Given the description of an element on the screen output the (x, y) to click on. 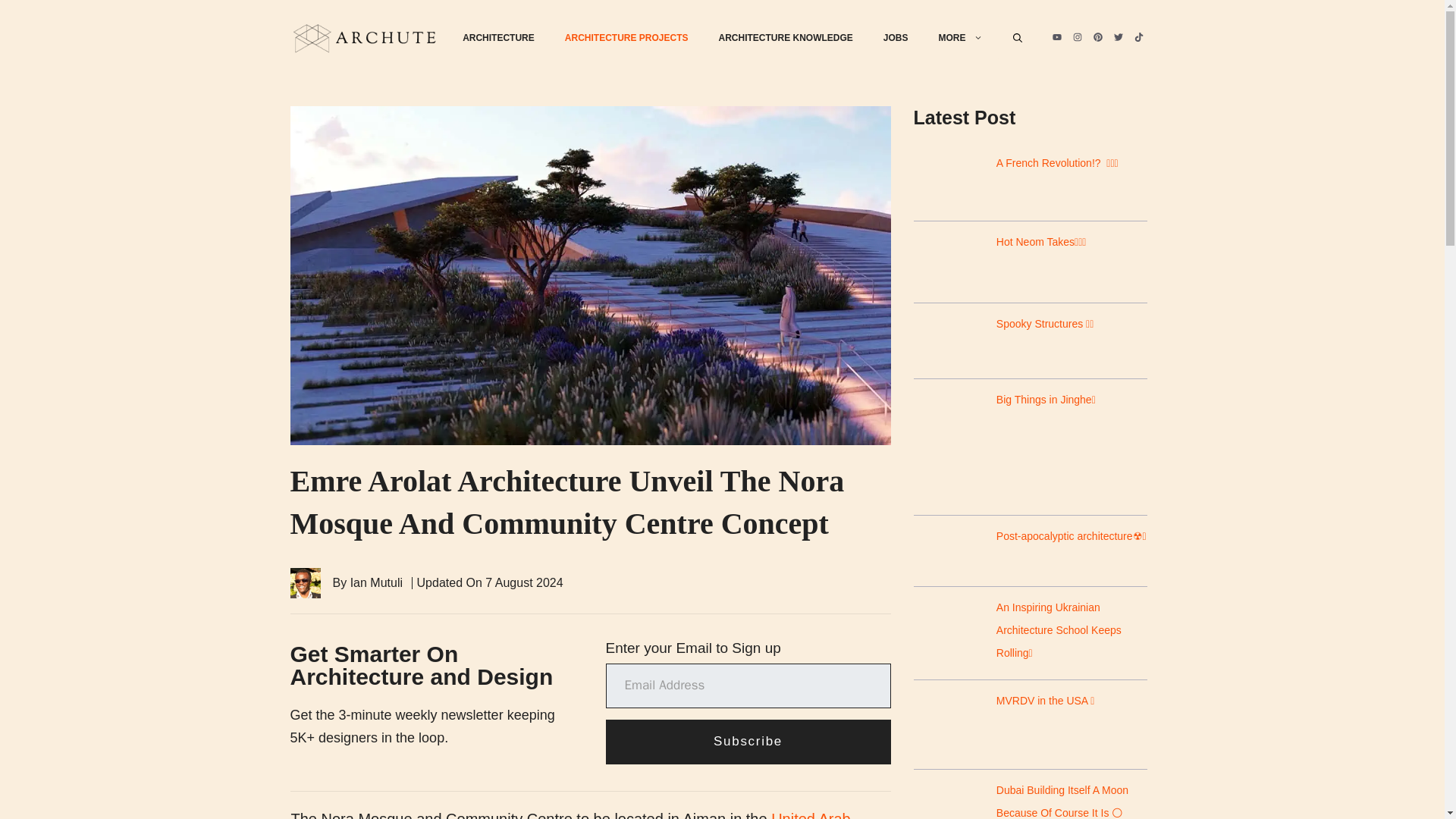
Subscribe (747, 741)
ARCHITECTURE PROJECTS (626, 37)
JOBS (895, 37)
Ian Mutuli (376, 582)
ARCHITECTURE KNOWLEDGE (785, 37)
ARCHITECTURE (498, 37)
MORE (960, 37)
United Arab Emirates (570, 814)
